Given the description of an element on the screen output the (x, y) to click on. 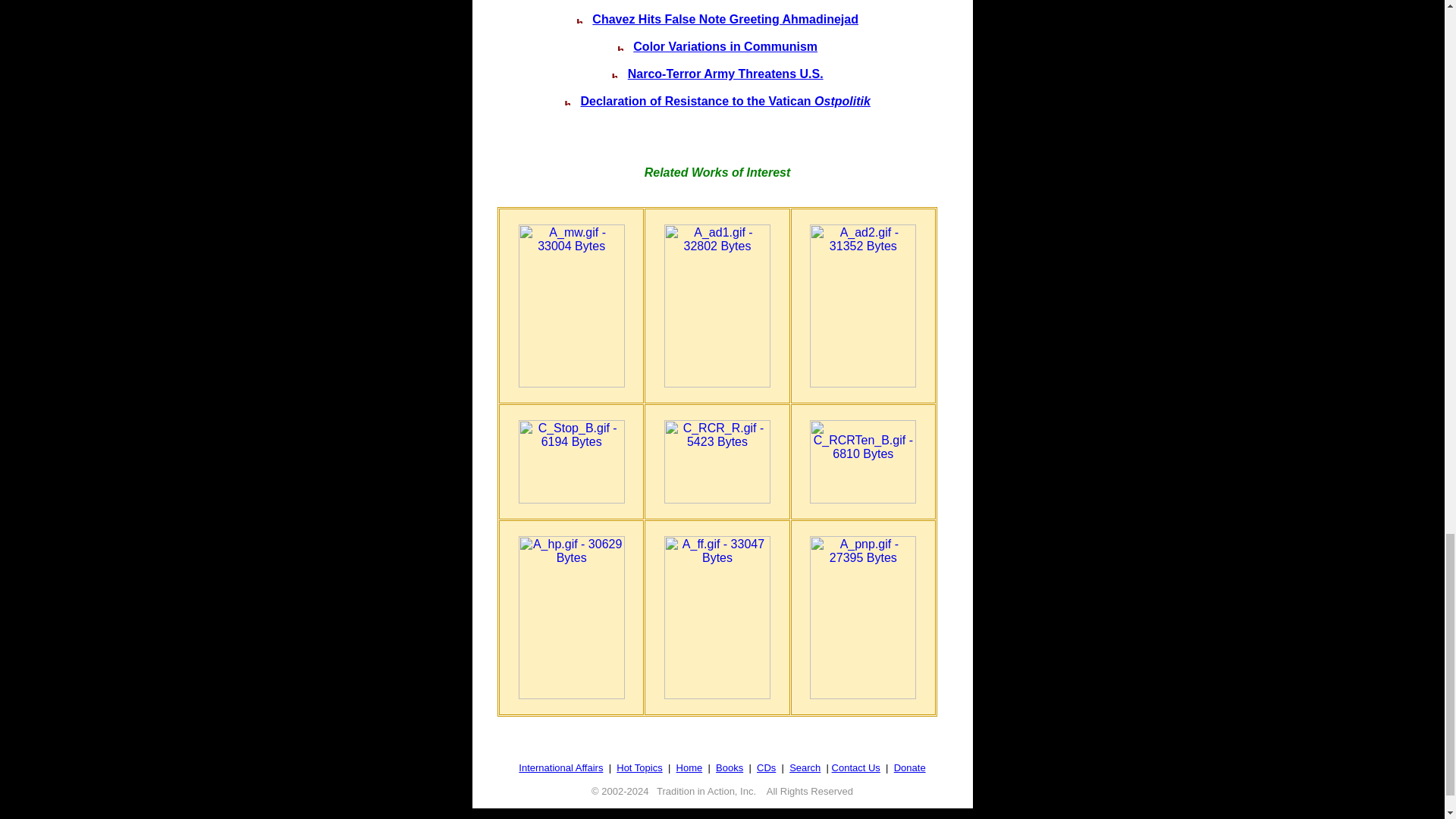
Narco-Terror Army Threatens U.S. (725, 73)
Chavez Hits False Note Greeting Ahmadinejad (725, 19)
Declaration of Resistance to the Vatican Ostpolitik (725, 101)
Color Variations in Communism (724, 46)
